Given the description of an element on the screen output the (x, y) to click on. 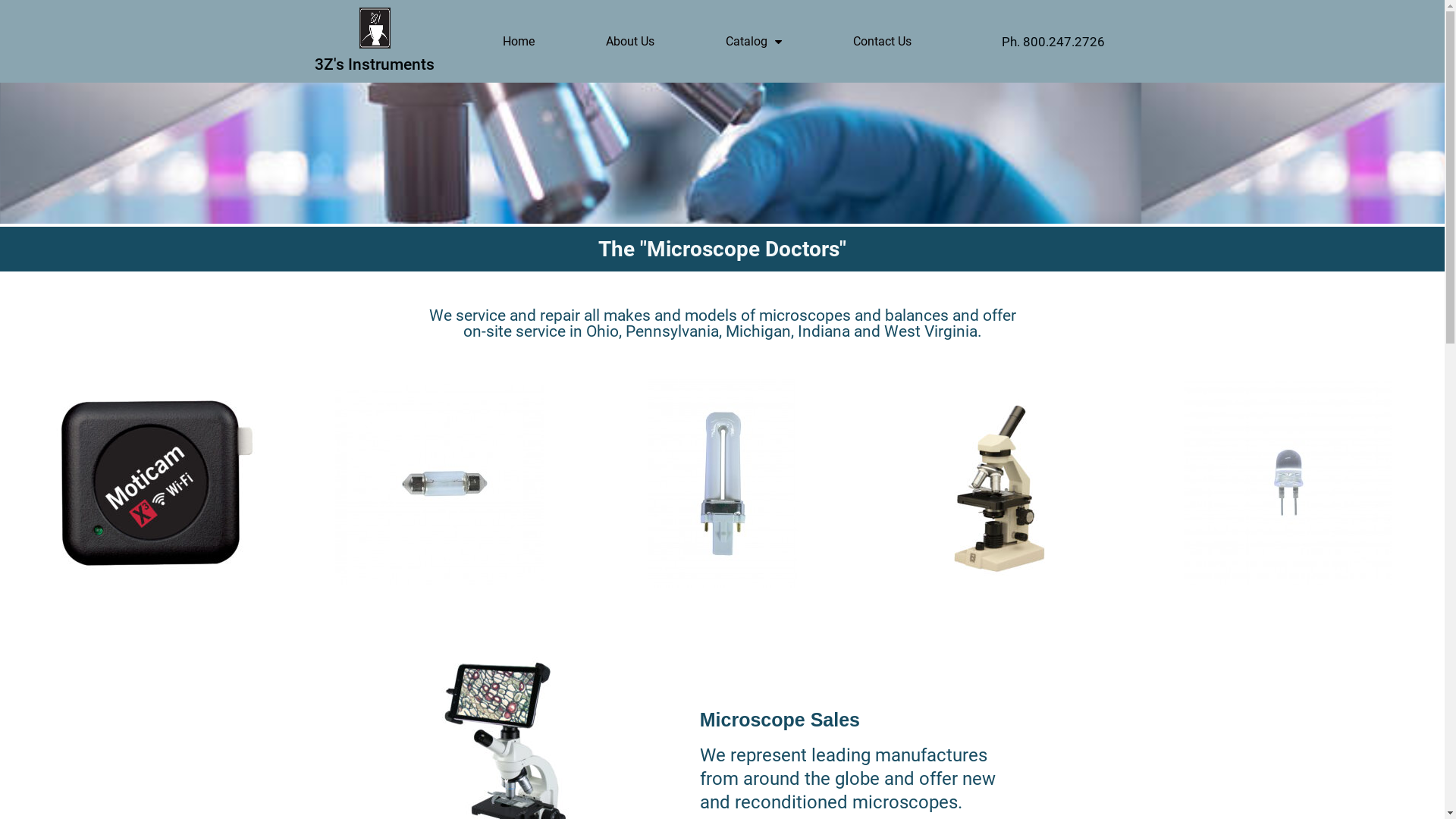
Home Element type: text (518, 41)
3Z's Instruments Element type: text (374, 64)
About Us Element type: text (630, 41)
Catalog Element type: text (753, 41)
Contact Us Element type: text (882, 41)
